Given the description of an element on the screen output the (x, y) to click on. 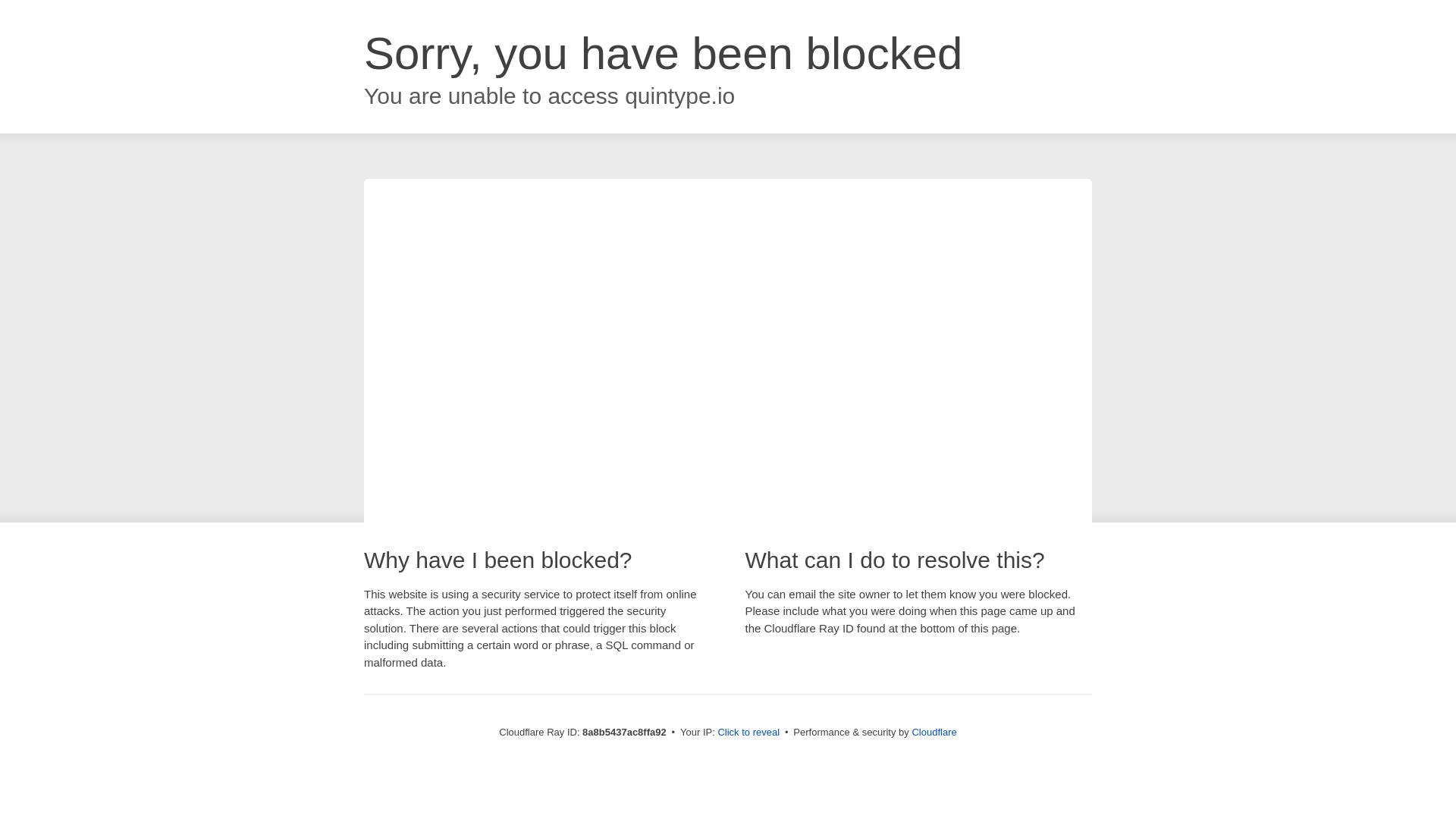
Cloudflare (933, 731)
Click to reveal (747, 732)
